Given the description of an element on the screen output the (x, y) to click on. 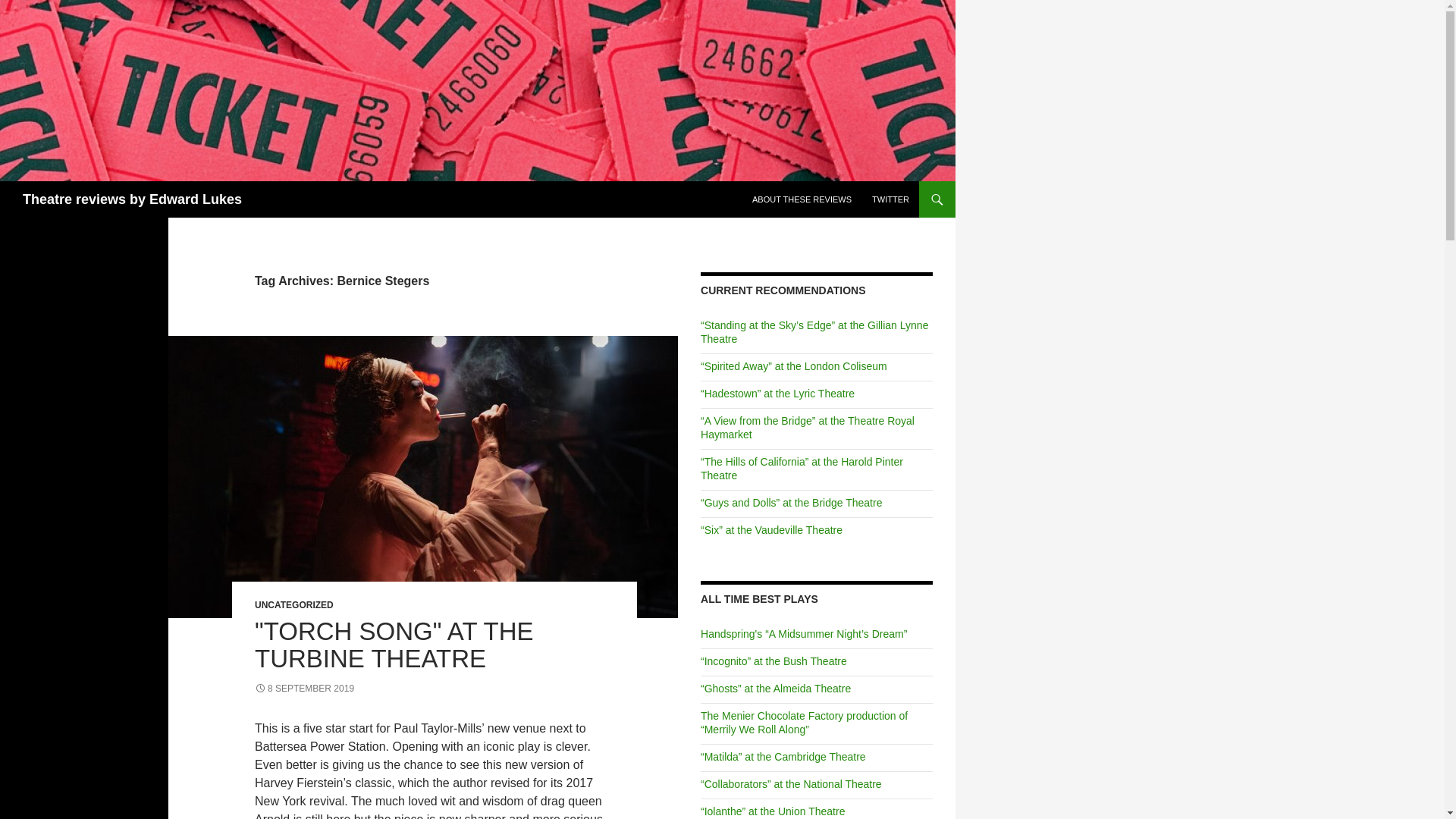
8 SEPTEMBER 2019 (303, 688)
"TORCH SONG" AT THE TURBINE THEATRE (394, 644)
UNCATEGORIZED (293, 604)
ABOUT THESE REVIEWS (801, 198)
Theatre reviews by Edward Lukes (132, 198)
TWITTER (890, 198)
